Given the description of an element on the screen output the (x, y) to click on. 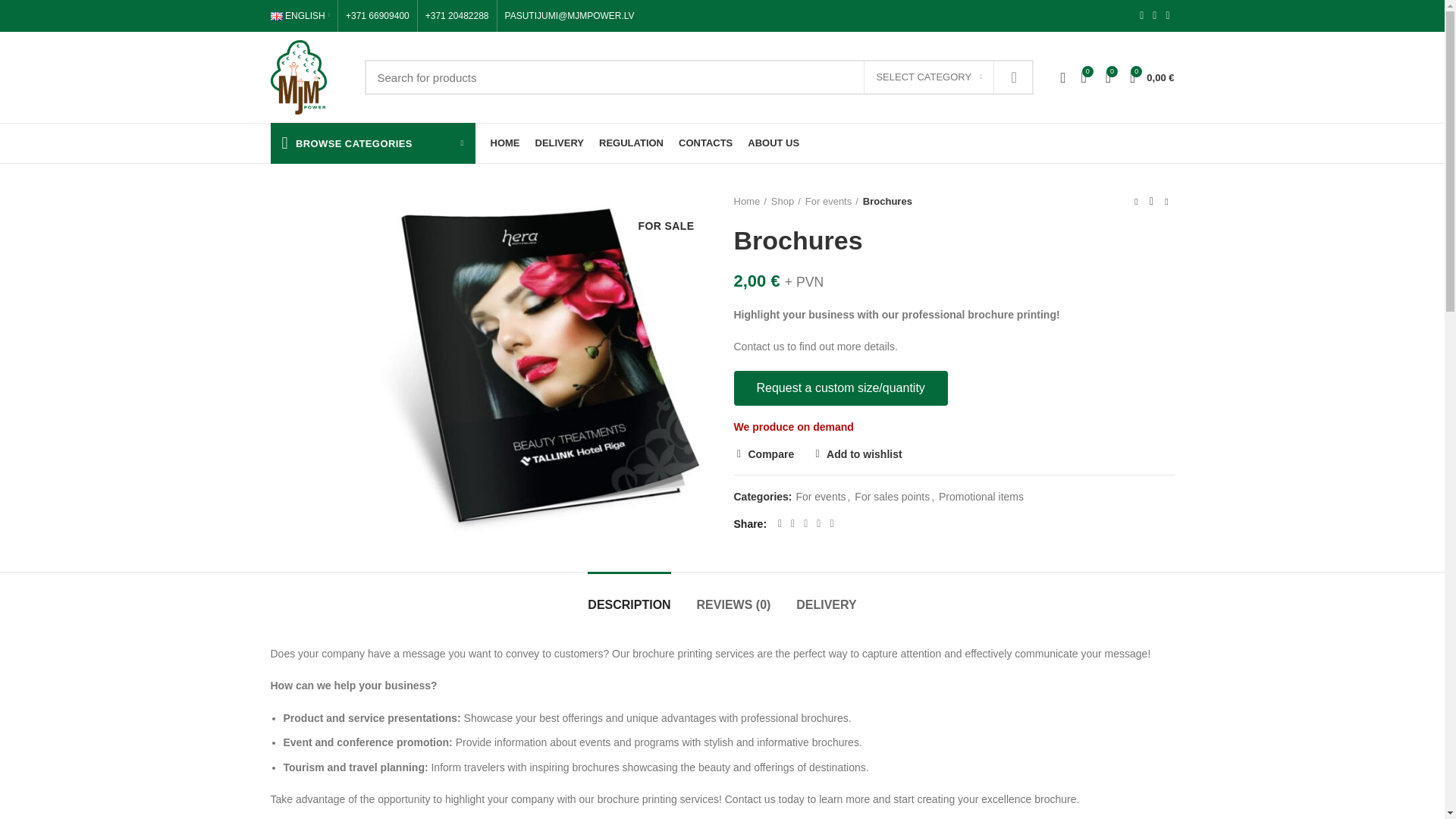
SELECT CATEGORY (928, 77)
Search for products (698, 77)
Shopping cart (1151, 77)
brosura4 (542, 366)
SELECT CATEGORY (928, 77)
SEARCH (1013, 77)
ENGLISH (299, 15)
